Given the description of an element on the screen output the (x, y) to click on. 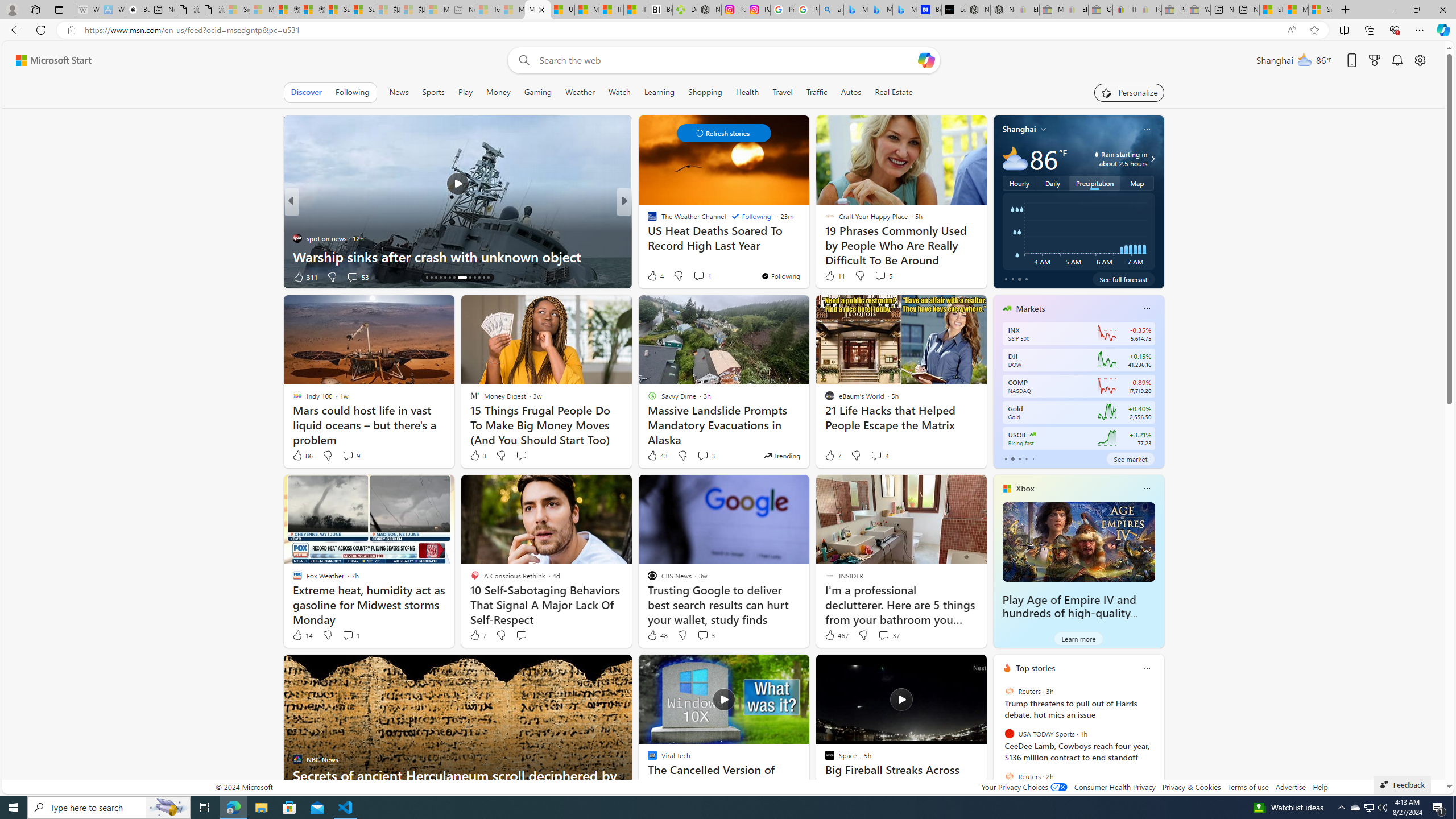
Top stories (1035, 668)
467 Like (835, 634)
Threats and offensive language policy | eBay (1124, 9)
AutomationID: tab-20 (454, 277)
Map (1137, 183)
123 Like (654, 276)
311 Like (304, 276)
AutomationID: tab-25 (483, 277)
previous (998, 741)
Microsoft Bing Travel - Flights from Hong Kong to Bangkok (855, 9)
